Given the description of an element on the screen output the (x, y) to click on. 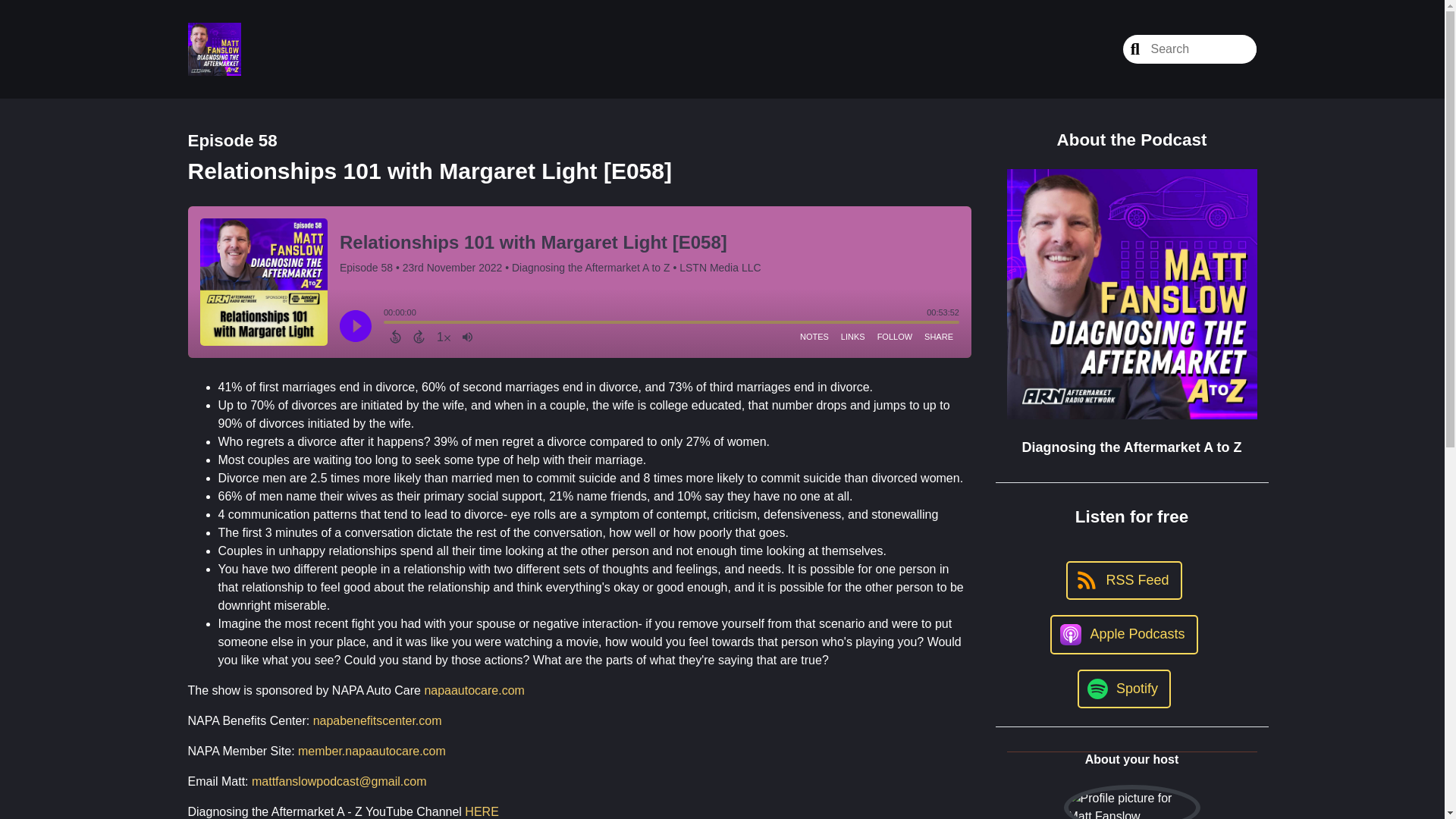
Apple Podcasts (1122, 634)
napaautocare.com (473, 689)
napabenefitscenter.com (377, 720)
Spotify (1123, 688)
HERE (480, 811)
member.napaautocare.com (371, 750)
RSS Feed (1122, 580)
